Given the description of an element on the screen output the (x, y) to click on. 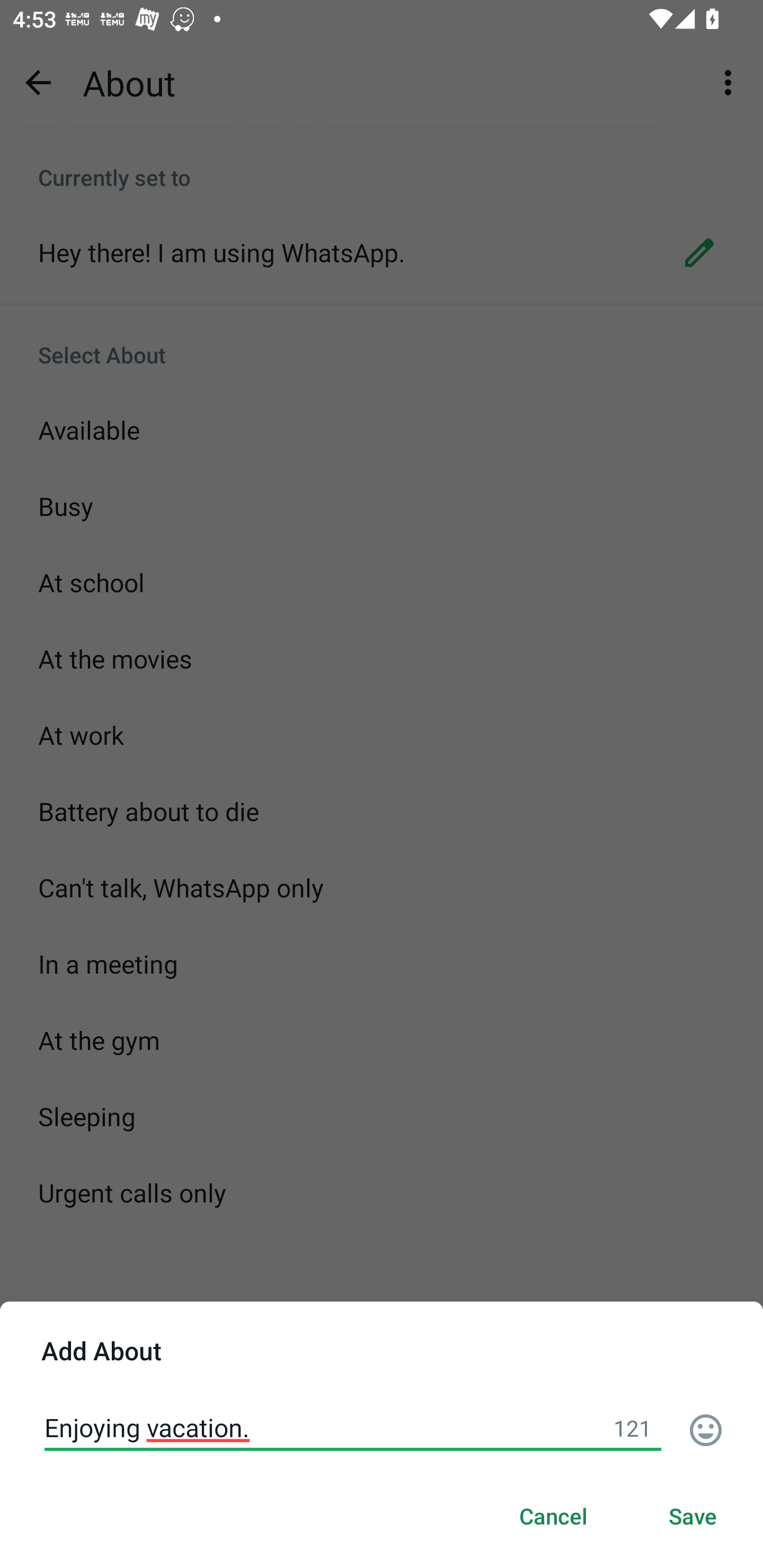
Enjoying vacation. (352, 1427)
Emoji (705, 1429)
CANCEL (552, 1516)
SAVE (693, 1516)
